Given the description of an element on the screen output the (x, y) to click on. 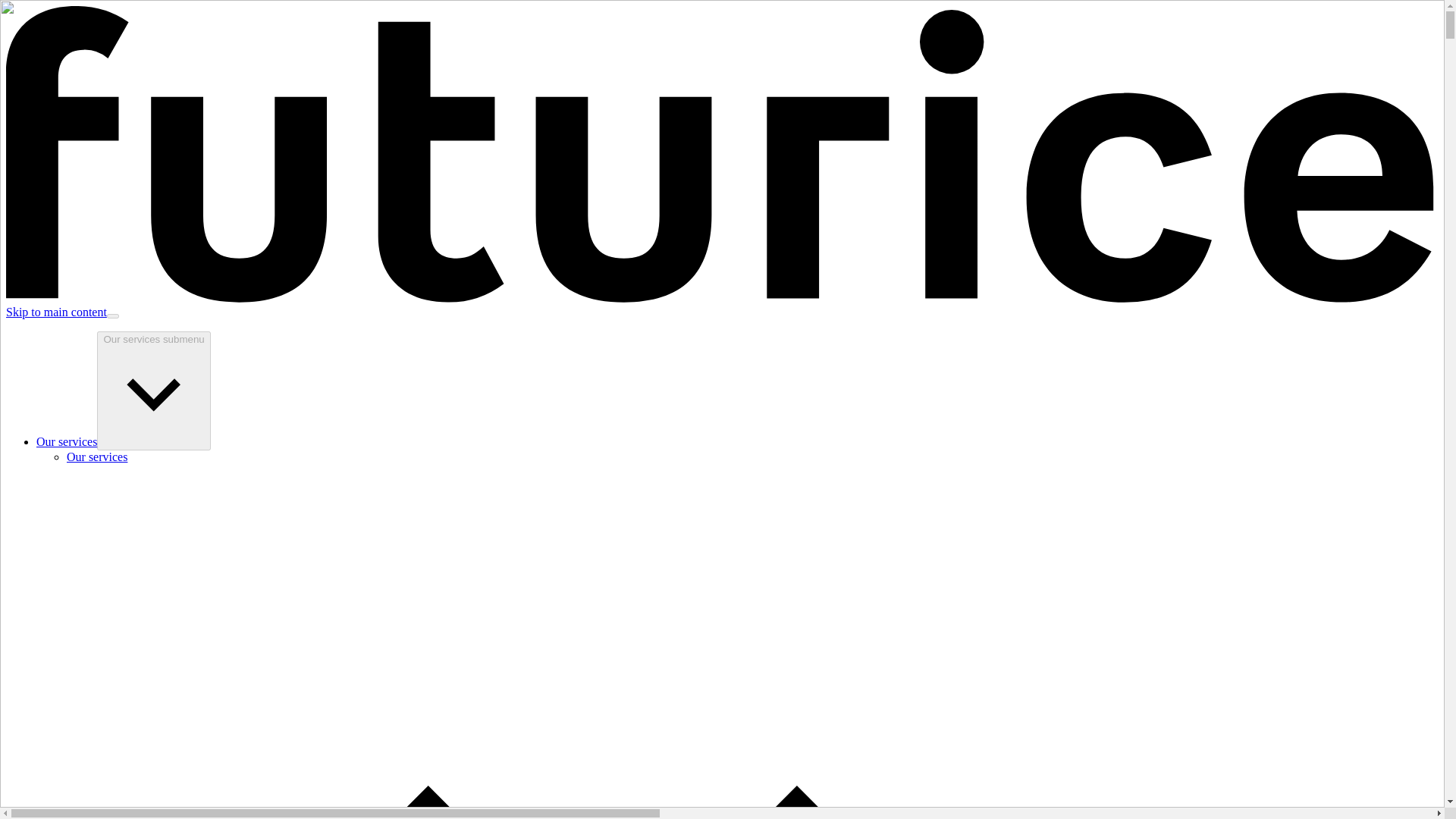
Our services submenu (153, 390)
Skip to main content (55, 311)
Our services (66, 440)
